Given the description of an element on the screen output the (x, y) to click on. 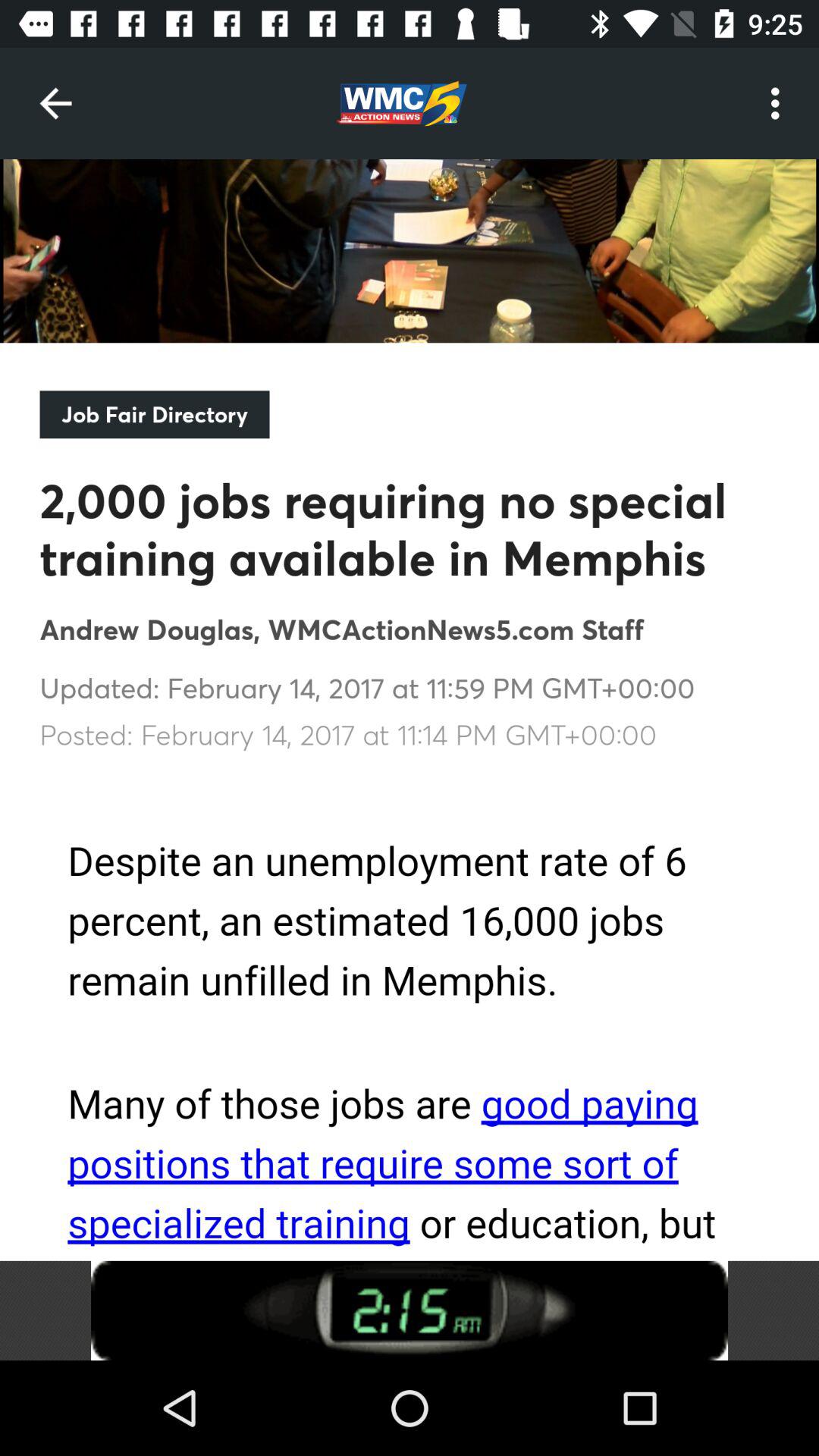
2:15am (409, 1310)
